Given the description of an element on the screen output the (x, y) to click on. 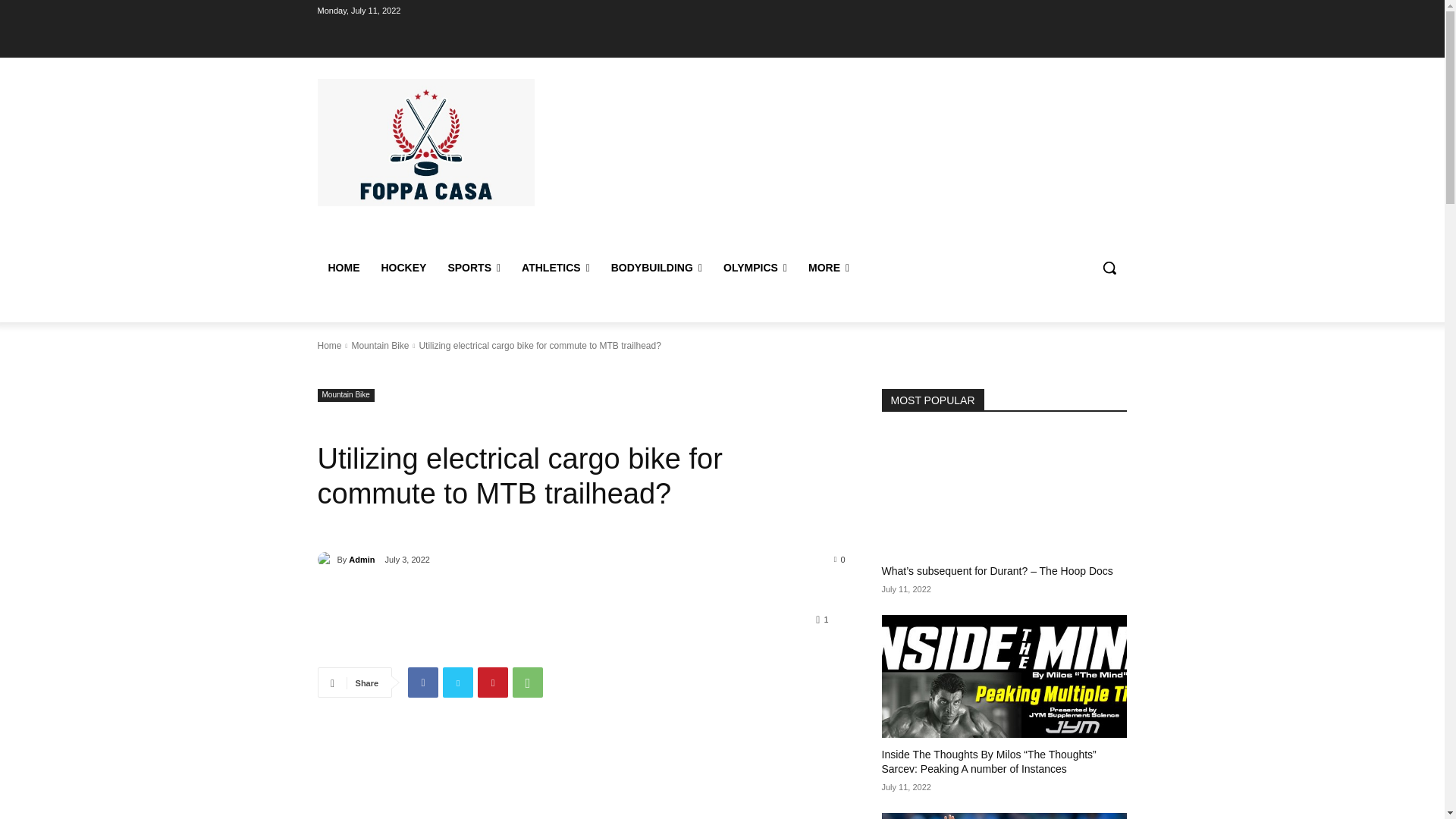
Pinterest (492, 682)
SPORTS (473, 267)
Twitter (457, 682)
Admin (326, 559)
HOCKEY (402, 267)
HOME (343, 267)
WhatsApp (527, 682)
Facebook (422, 682)
View all posts in Mountain Bike (379, 345)
ATHLETICS (555, 267)
